Given the description of an element on the screen output the (x, y) to click on. 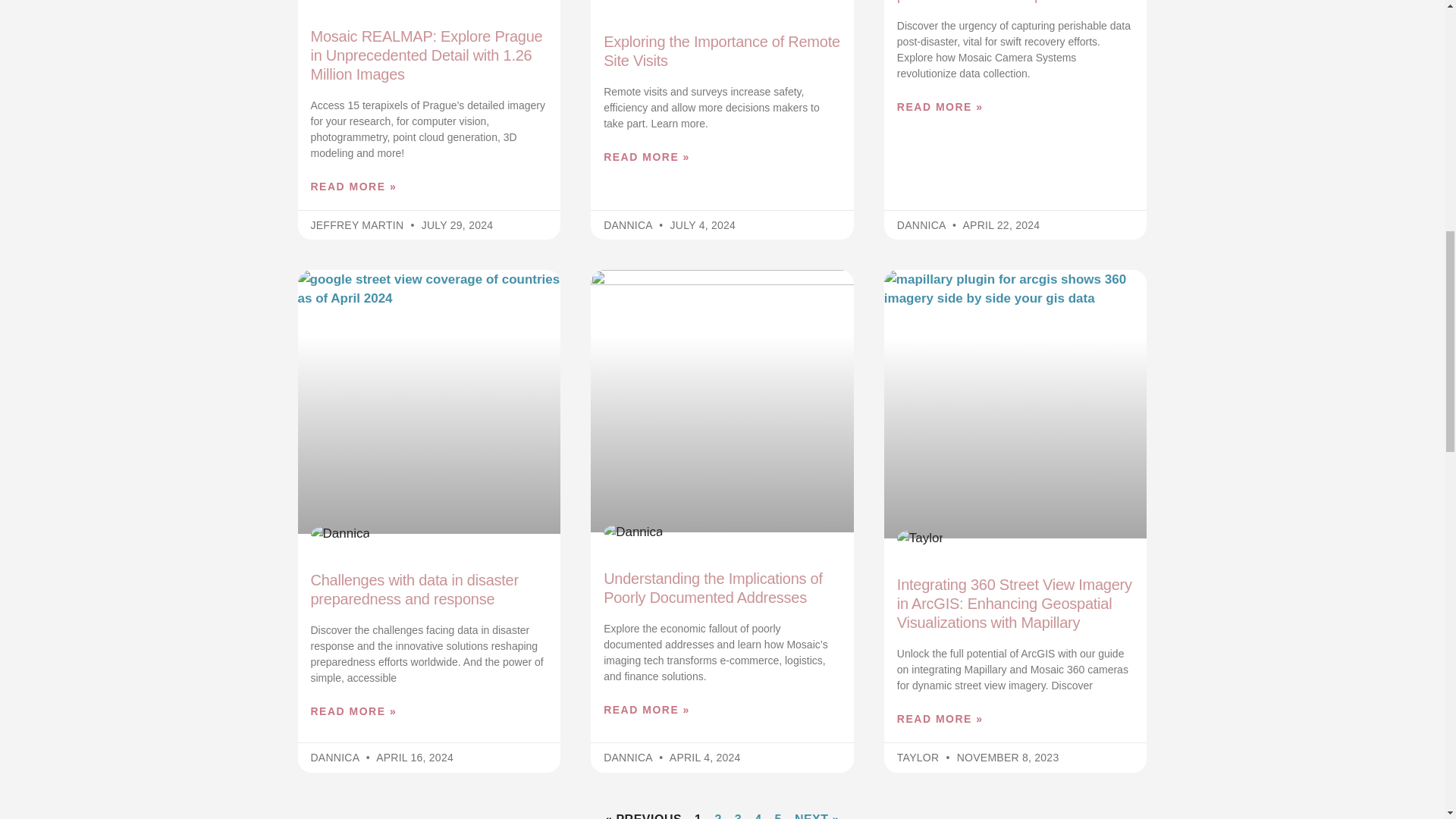
Exploring the Importance of Remote Site Visits (722, 50)
Challenges with data in disaster preparedness and response (414, 589)
